Given the description of an element on the screen output the (x, y) to click on. 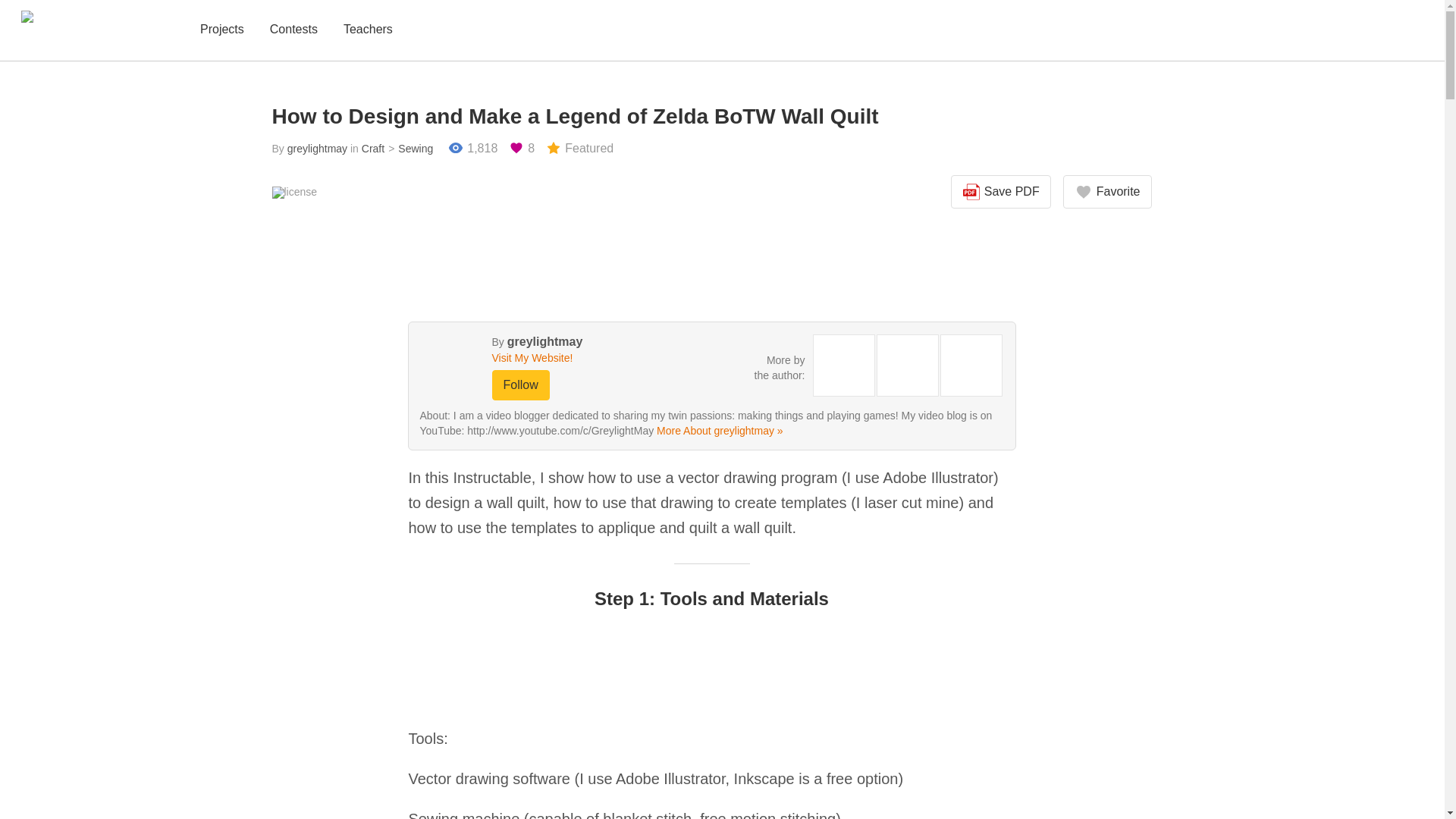
Teachers (368, 30)
greylightmay (316, 148)
Projects (221, 30)
greylightmay (544, 341)
Save PDF (1000, 191)
Sewing (408, 148)
Follow (520, 385)
Favorite (1106, 191)
Craft (372, 148)
Visit My Website! (570, 358)
